Given the description of an element on the screen output the (x, y) to click on. 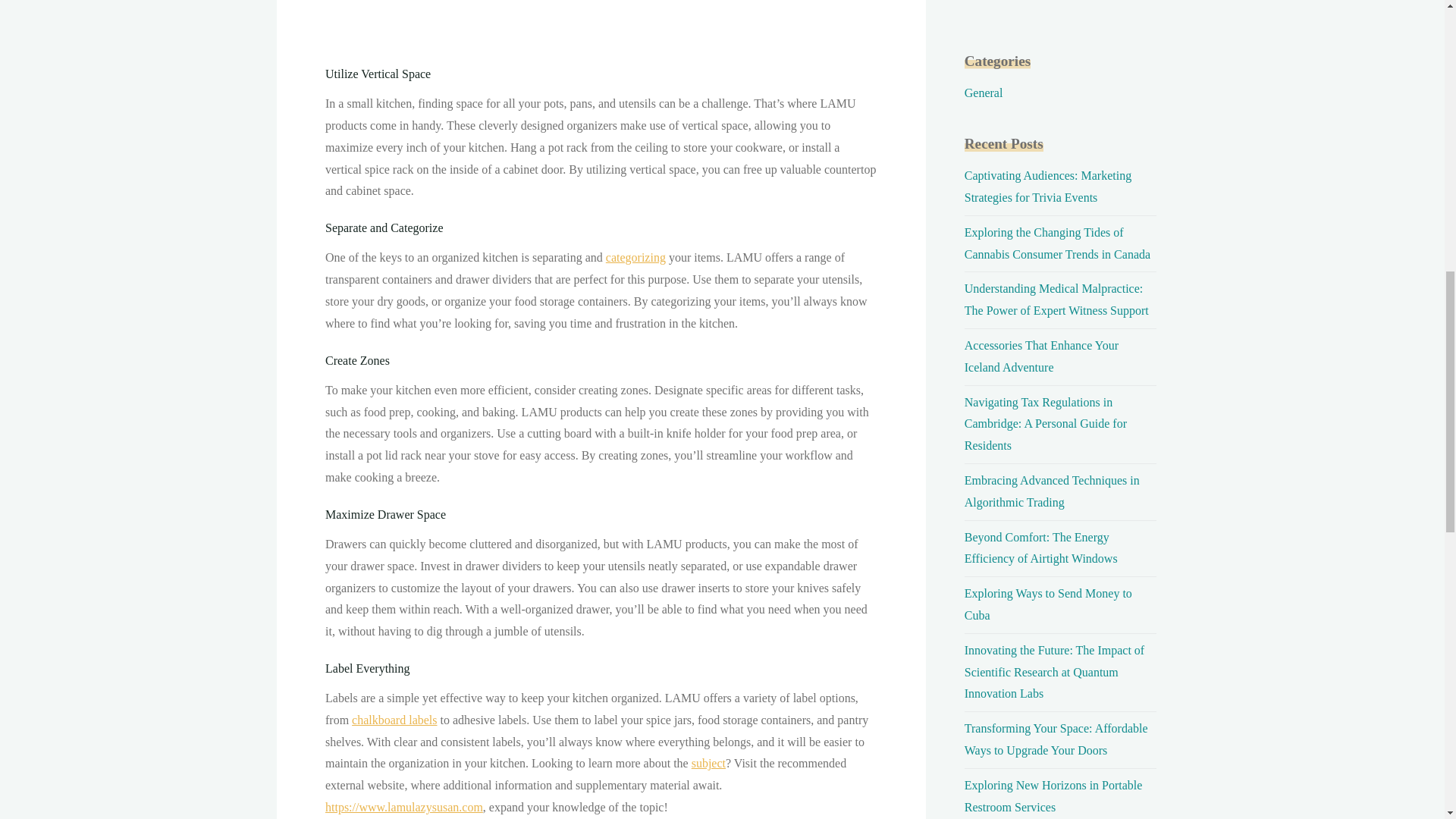
Accessories That Enhance Your Iceland Adventure (1040, 356)
Embracing Advanced Techniques in Algorithmic Trading (1051, 491)
Beyond Comfort: The Energy Efficiency of Airtight Windows (1040, 547)
Exploring Ways to Send Money to Cuba (1047, 604)
categorizing (635, 256)
General (983, 92)
subject (707, 762)
